Given the description of an element on the screen output the (x, y) to click on. 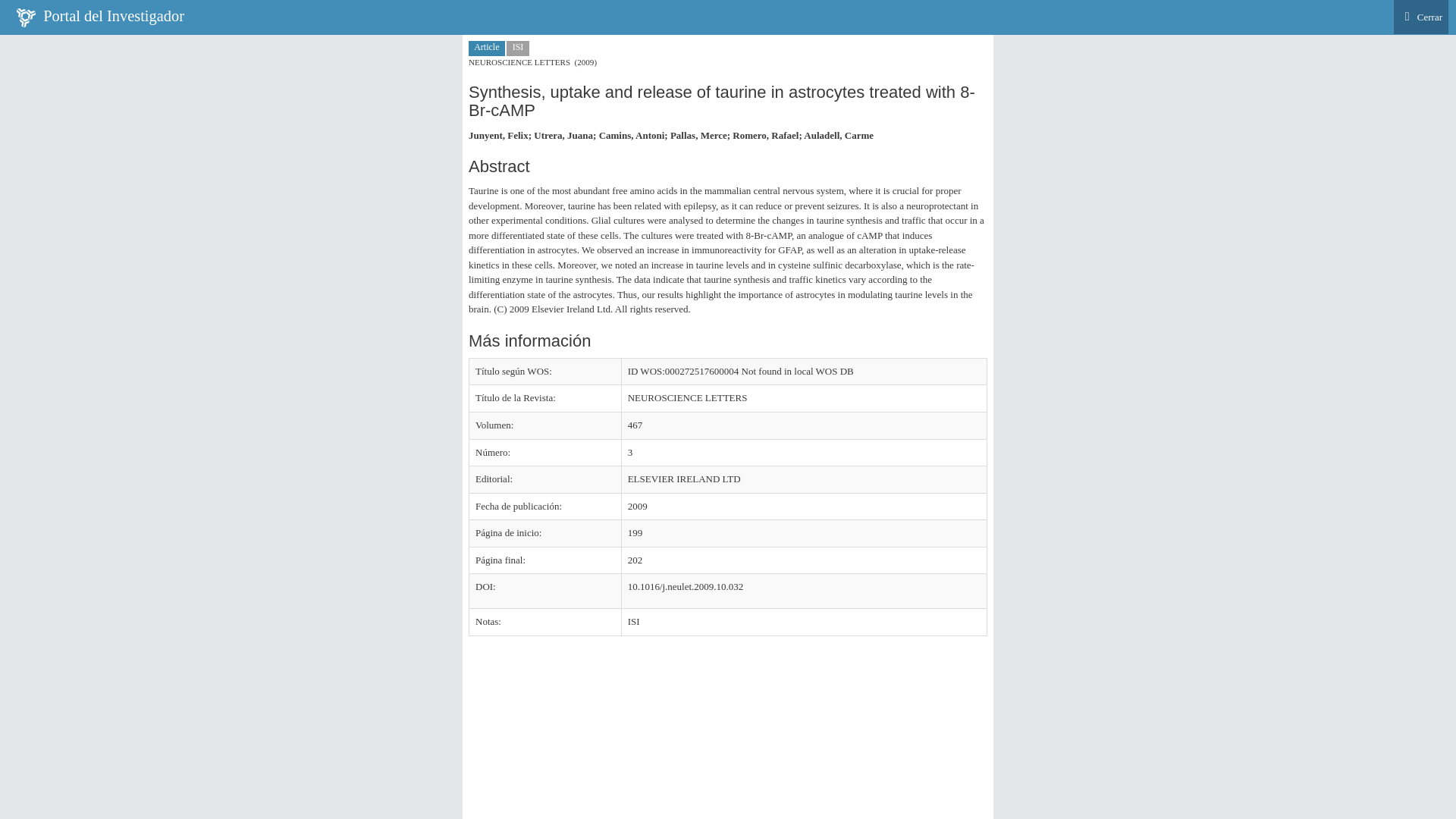
 Portal del Investigador (100, 17)
Cerrar (1420, 17)
